Given the description of an element on the screen output the (x, y) to click on. 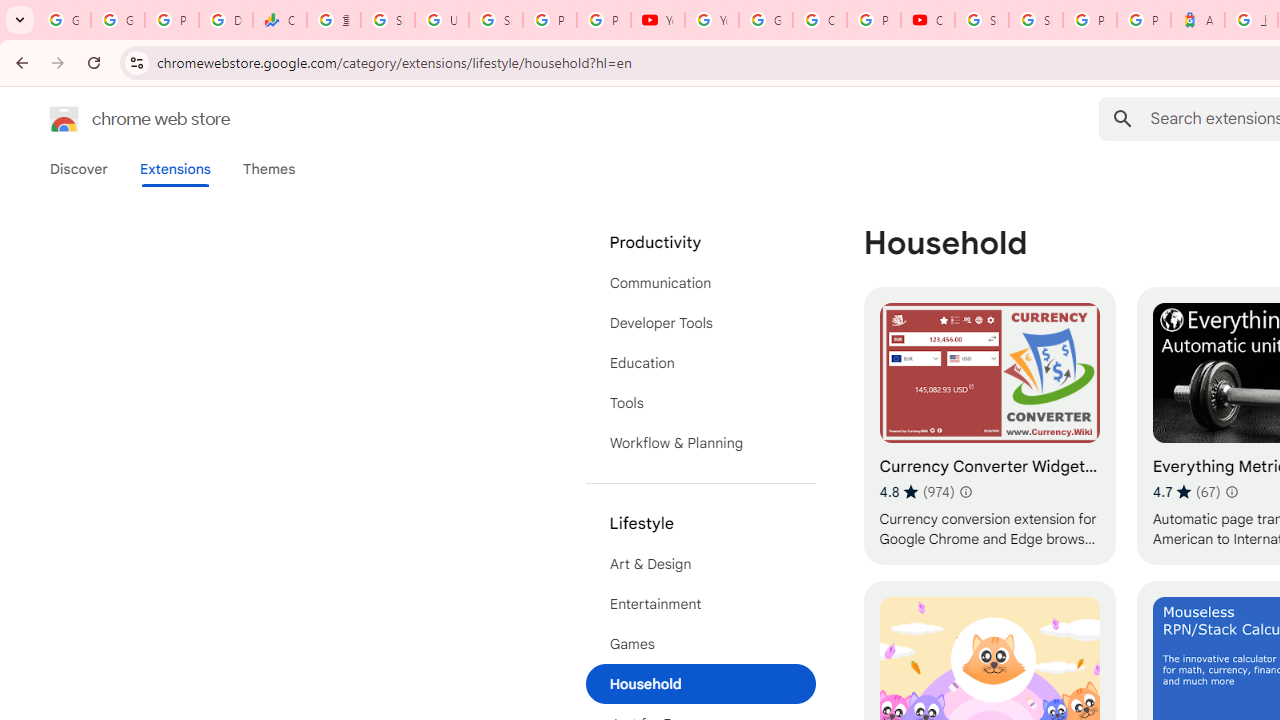
Tools (700, 403)
Atour Hotel - Google hotels (1197, 20)
Create your Google Account (819, 20)
